Given the description of an element on the screen output the (x, y) to click on. 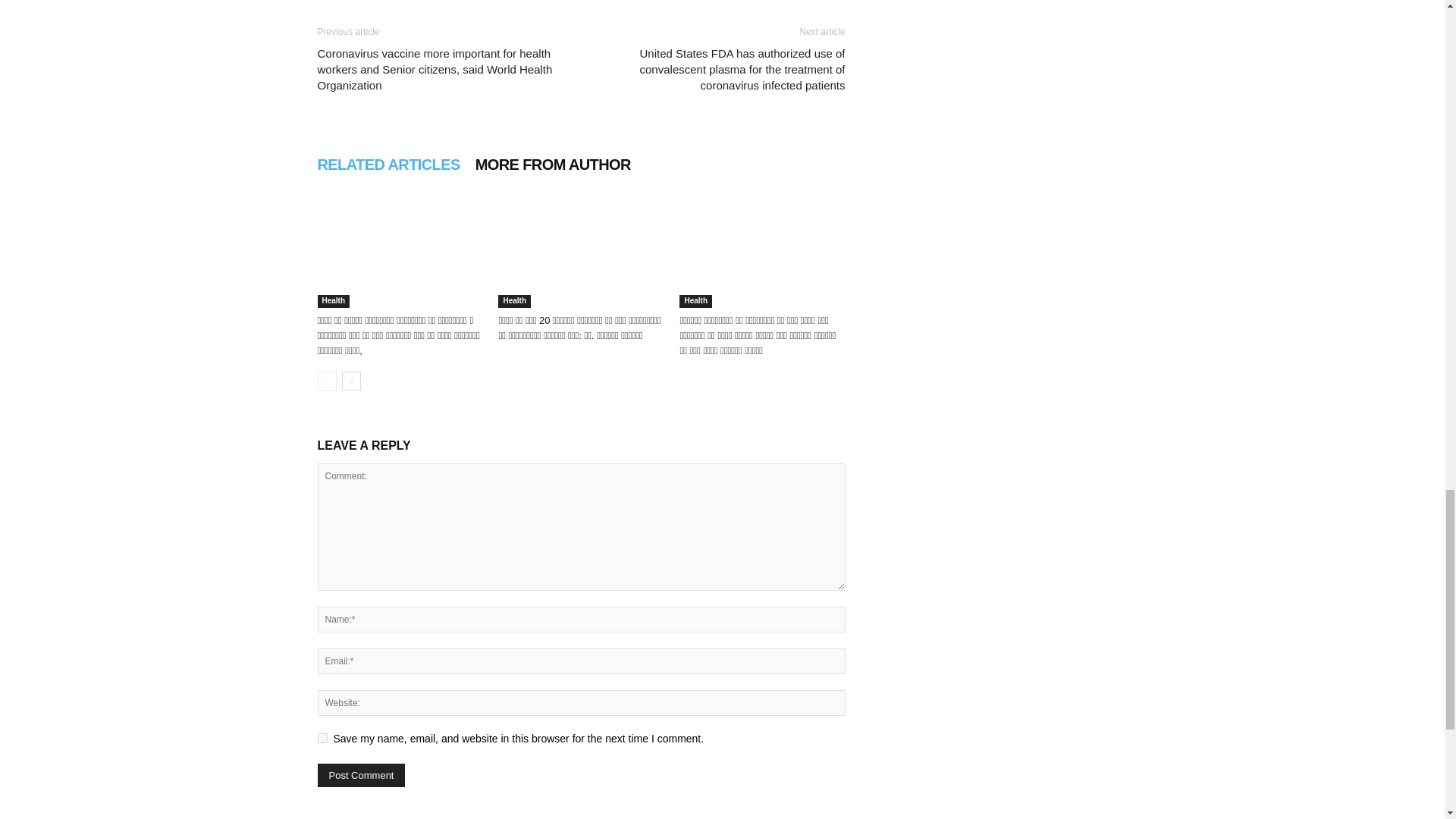
yes (321, 737)
Post Comment (360, 775)
